Given the description of an element on the screen output the (x, y) to click on. 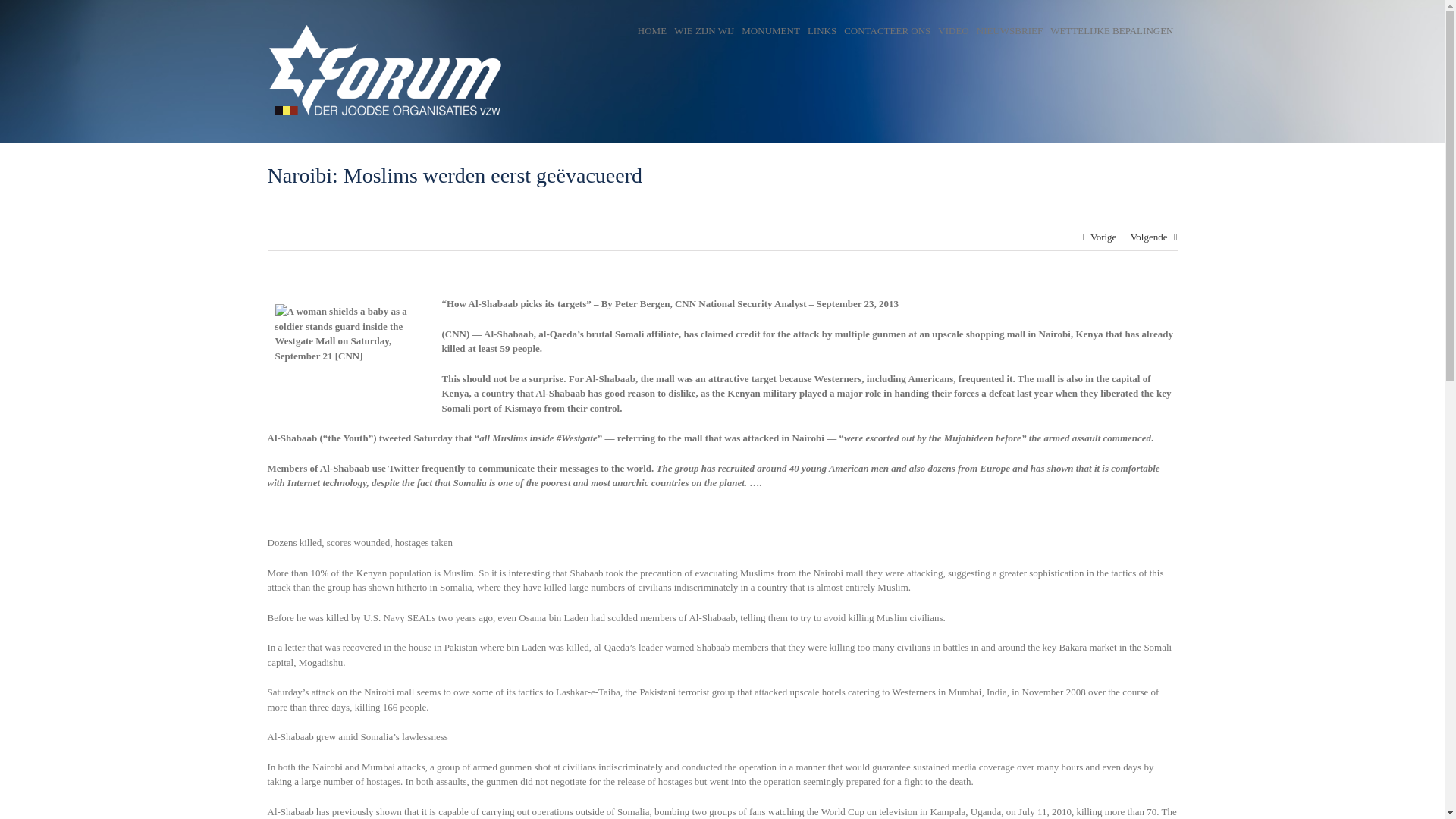
NIEUWSBRIEF (1009, 30)
Volgende (1149, 237)
MONUMENT (770, 30)
CONTACTEER ONS (887, 30)
WIE ZIJN WIJ (703, 30)
WETTELIJKE BEPALINGEN (1111, 30)
Vorige (1103, 237)
